Given the description of an element on the screen output the (x, y) to click on. 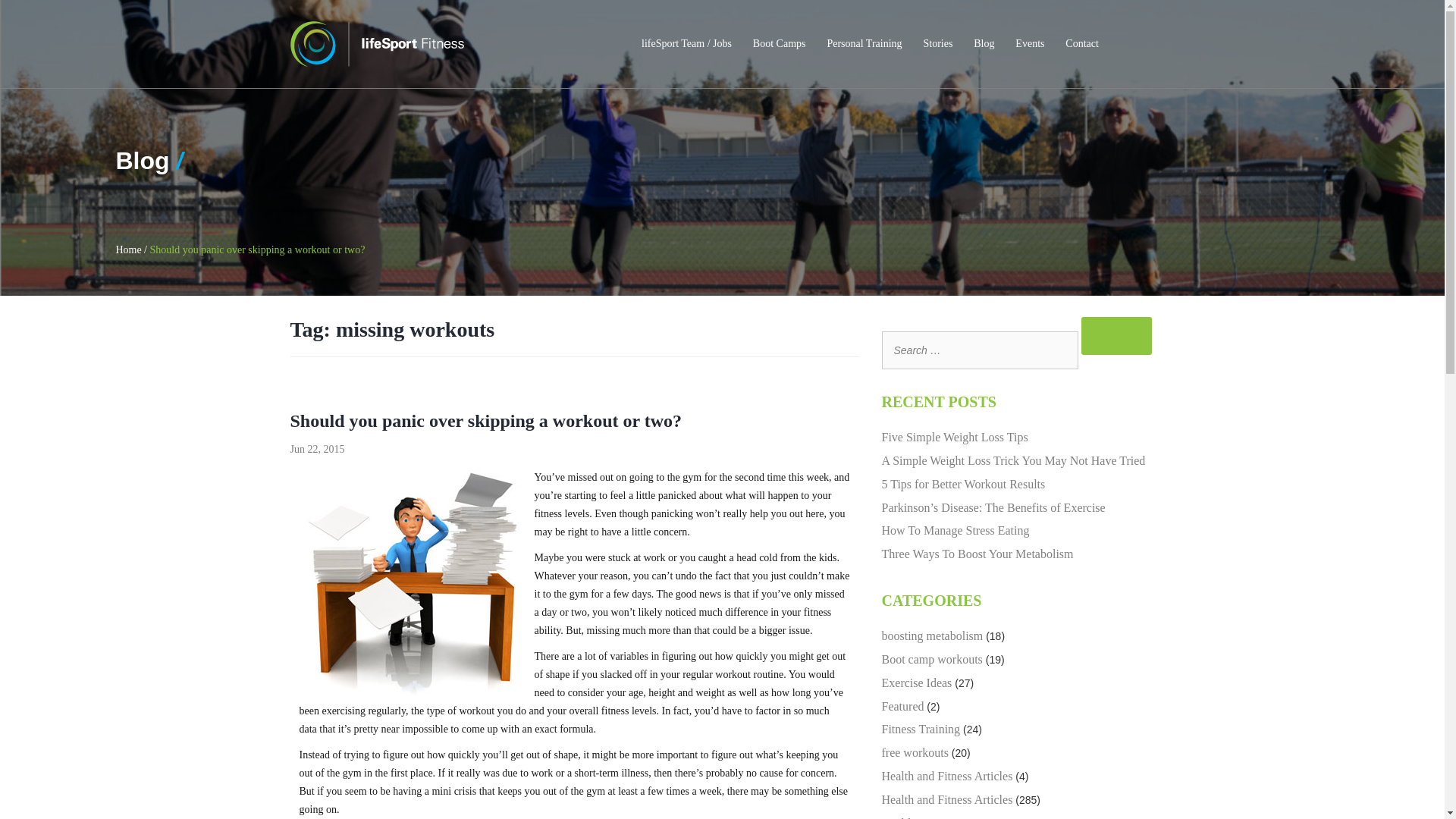
Personal Training (863, 44)
Home (128, 249)
Boot Camps (779, 44)
Stories (937, 44)
Contact (1082, 44)
Events (1029, 44)
LifeSport Fitness (376, 43)
